Given the description of an element on the screen output the (x, y) to click on. 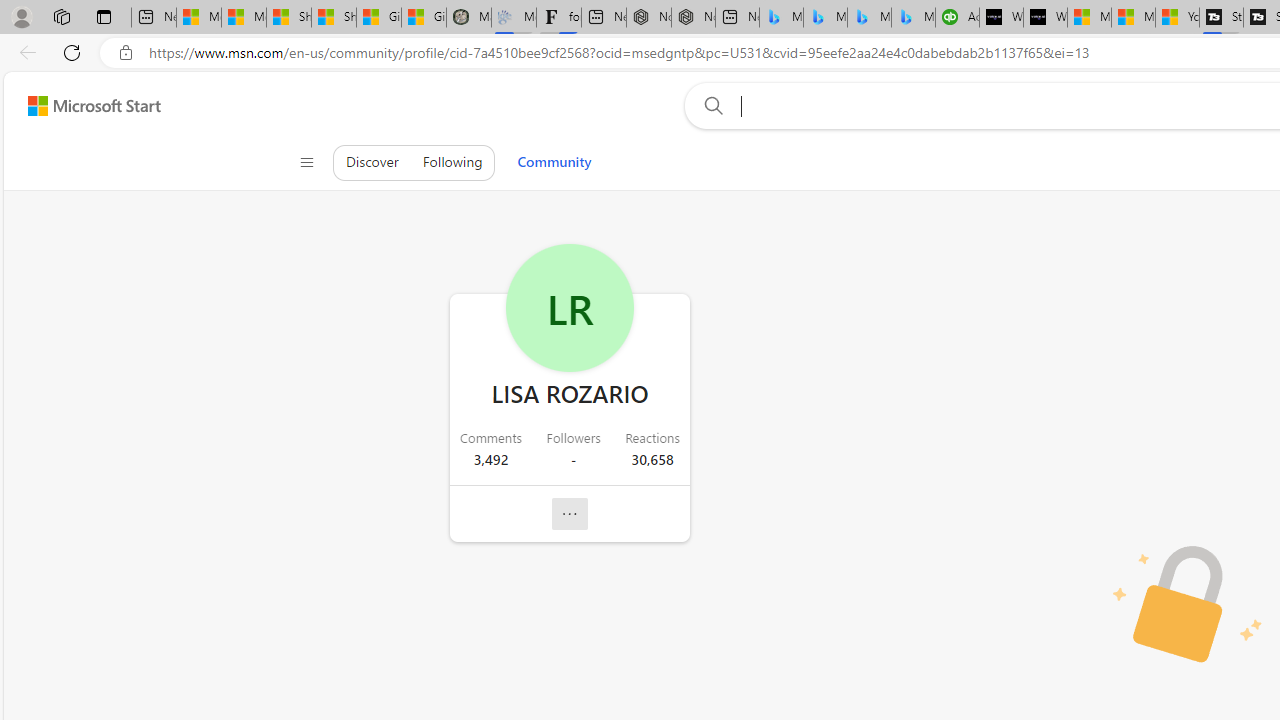
Web search (709, 105)
What's the best AI voice generator? - voice.ai (1045, 17)
Nordace - #1 Japanese Best-Seller - Siena Smart Backpack (693, 17)
Class: cwt-icon-vector (570, 514)
Streaming Coverage | T3 (1220, 17)
Gilma and Hector both pose tropical trouble for Hawaii (423, 17)
Community (553, 161)
Accounting Software for Accountants, CPAs and Bookkeepers (957, 17)
